Given the description of an element on the screen output the (x, y) to click on. 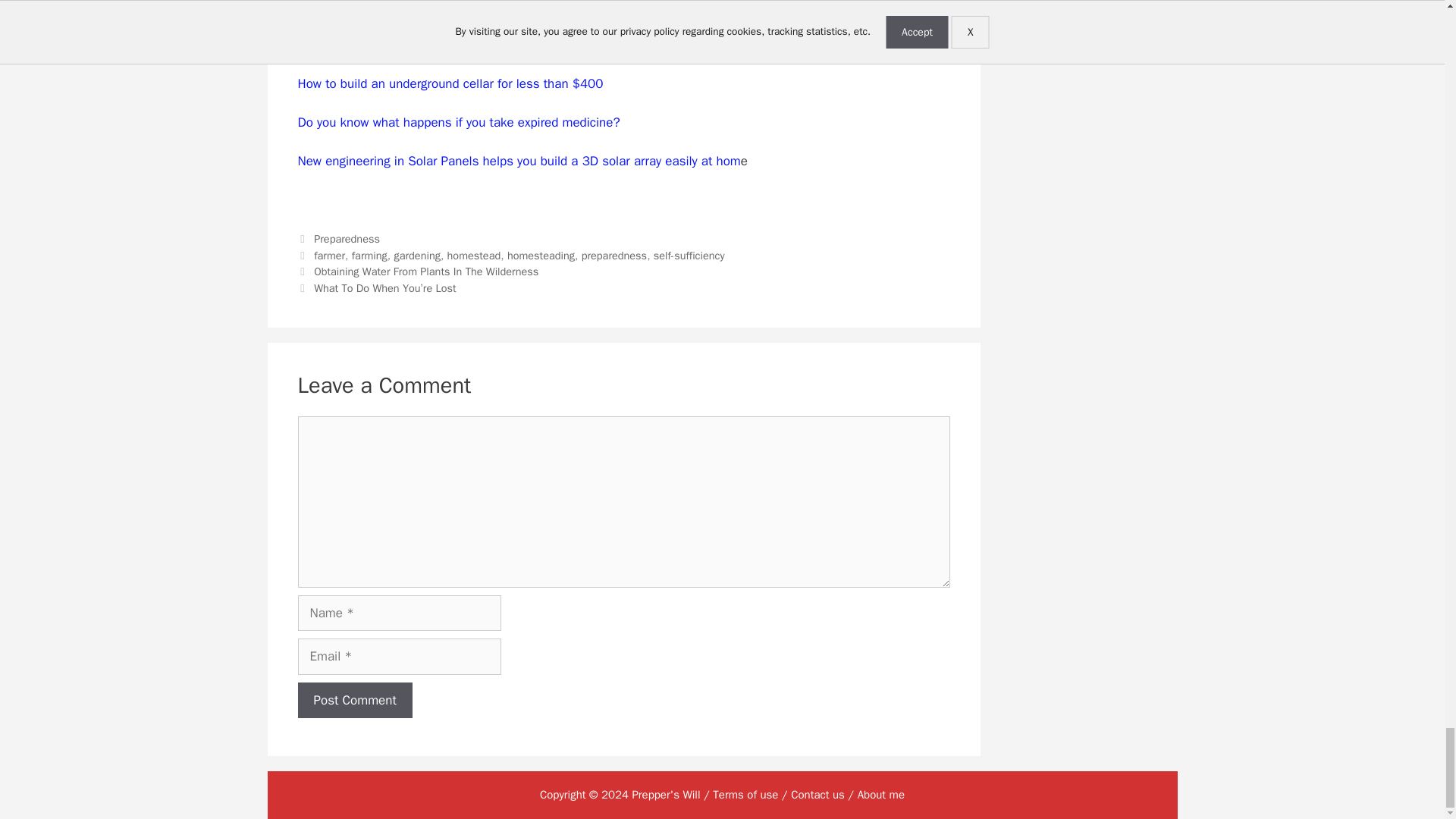
homesteading (540, 255)
gardening (416, 255)
homestead (473, 255)
farmer (329, 255)
Post Comment (354, 700)
Do you know what happens if you take expired medicine? (458, 122)
Preparedness (347, 238)
farming (369, 255)
self-sufficiency (689, 255)
preparedness (613, 255)
Obtaining Water From Plants In The Wilderness (426, 271)
Post Comment (354, 700)
